Given the description of an element on the screen output the (x, y) to click on. 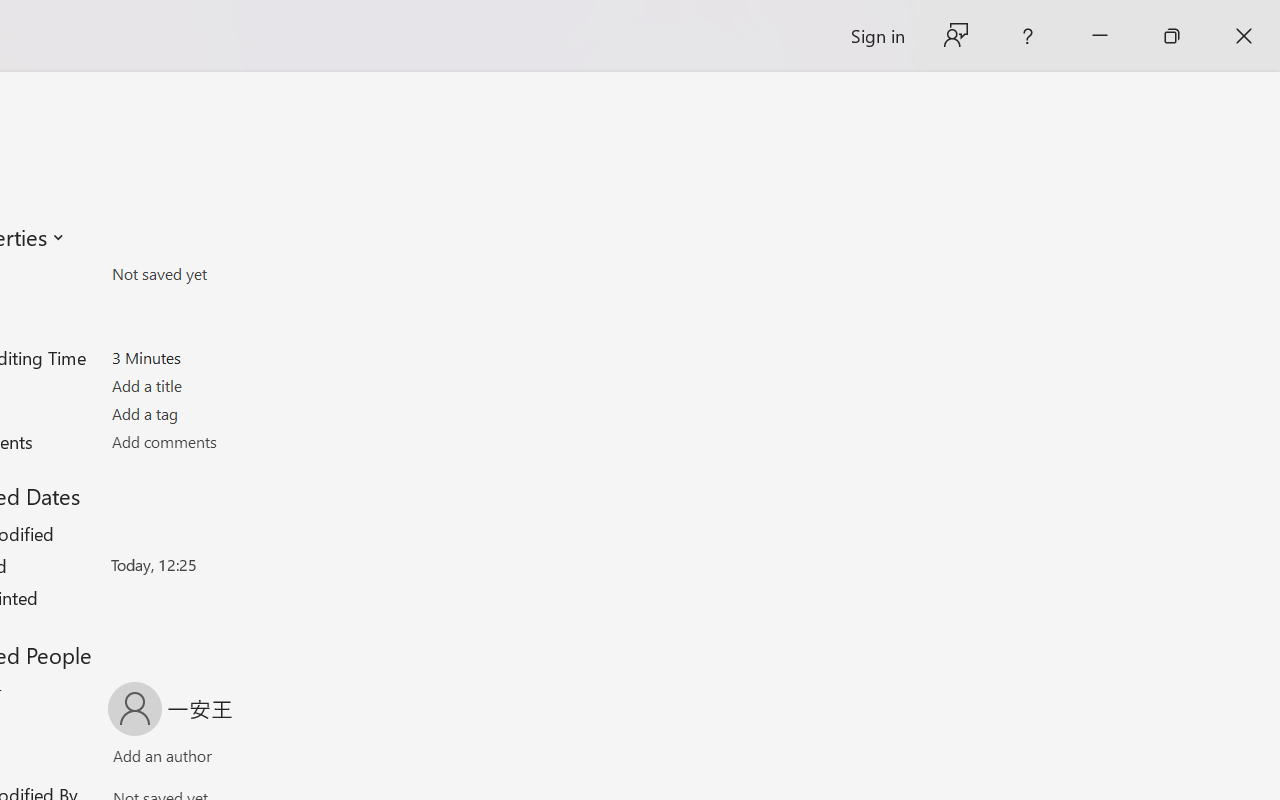
Words (228, 330)
Browse Address Book (291, 760)
Verify Names (197, 759)
Tags (228, 413)
Size (228, 274)
Total Editing Time (228, 357)
Title (228, 386)
Pages (228, 301)
